Given the description of an element on the screen output the (x, y) to click on. 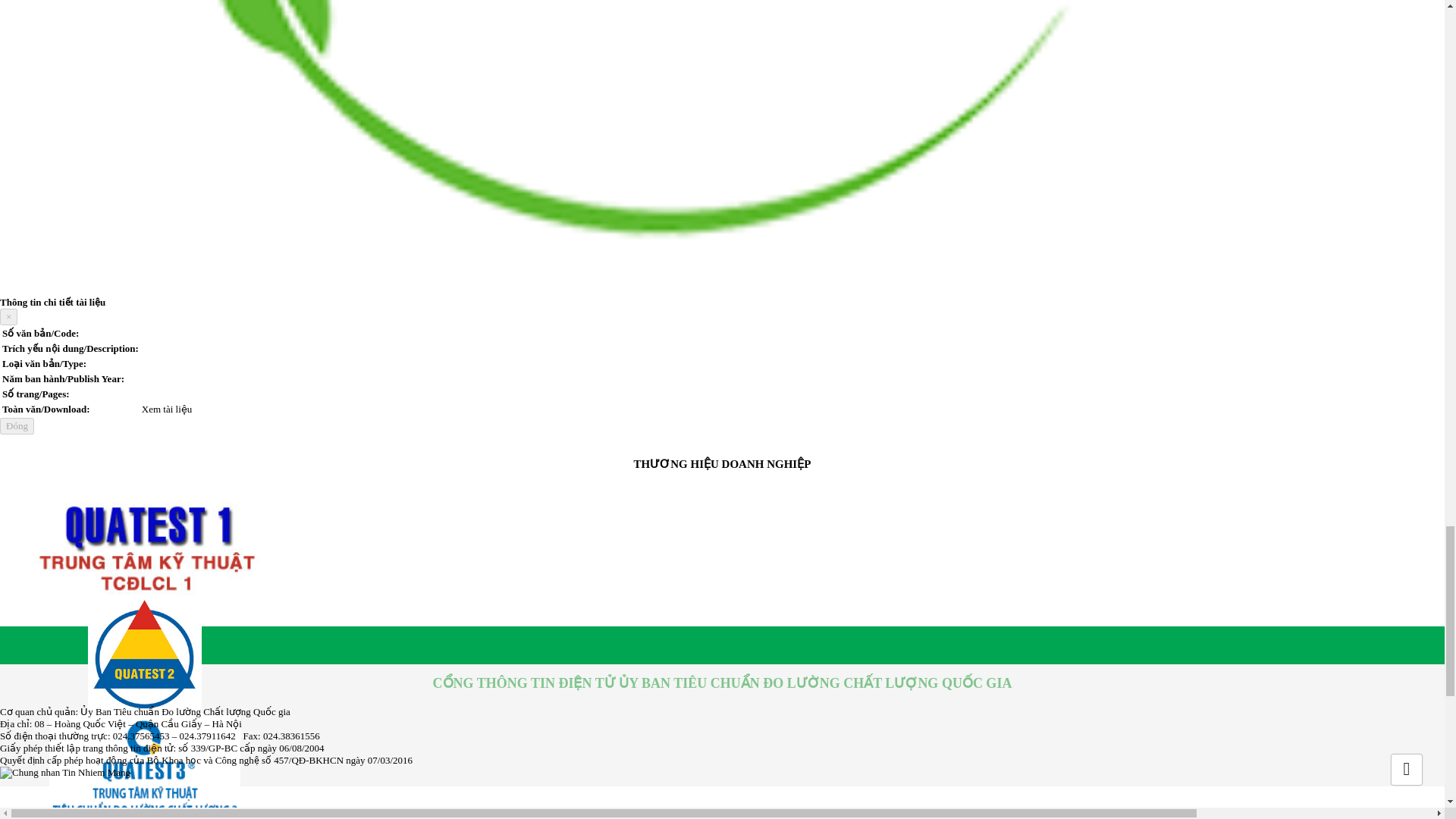
Chung nhan Tin Nhiem Mang (65, 772)
